Given the description of an element on the screen output the (x, y) to click on. 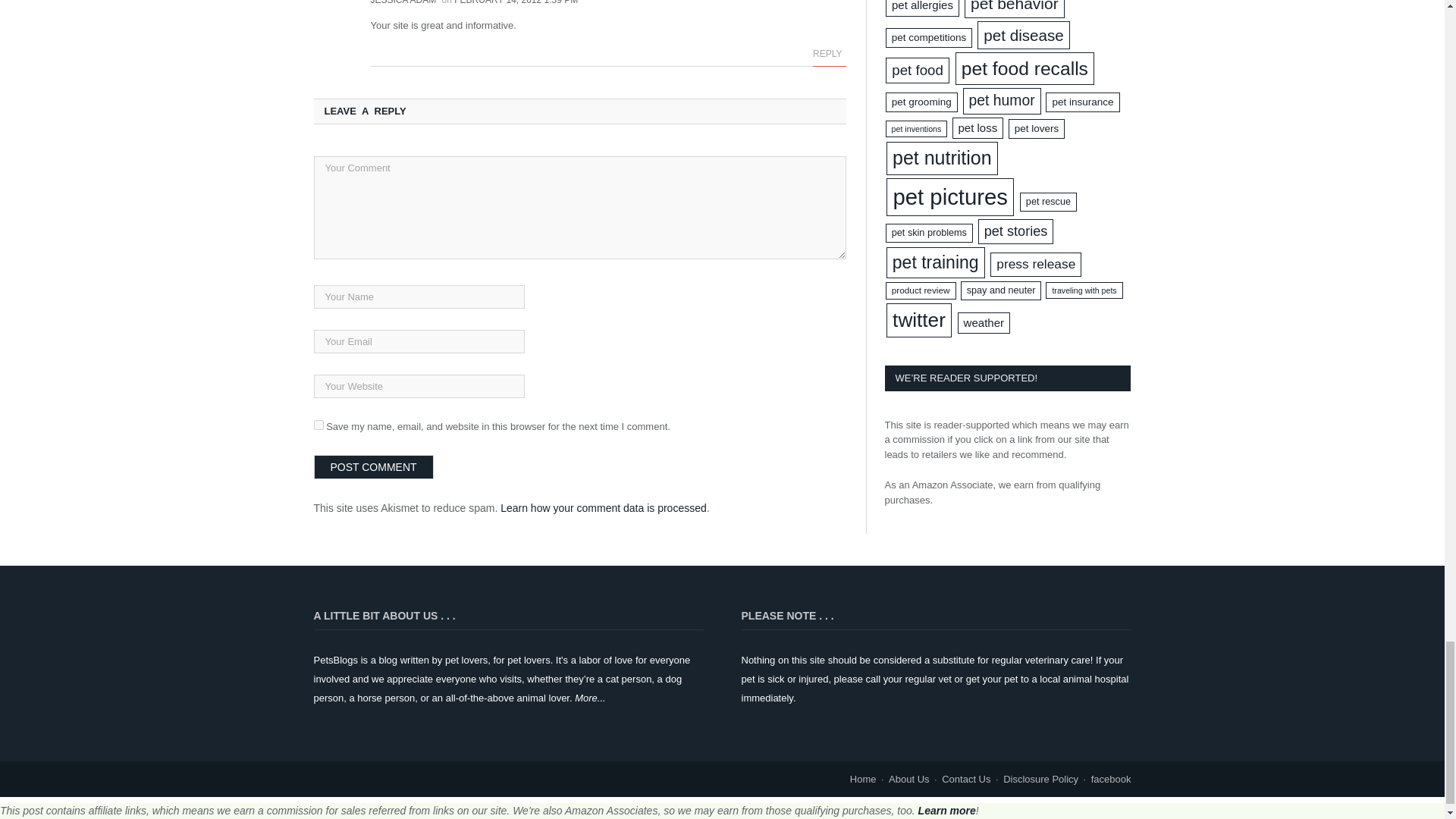
Post Comment (373, 467)
yes (318, 424)
